Given the description of an element on the screen output the (x, y) to click on. 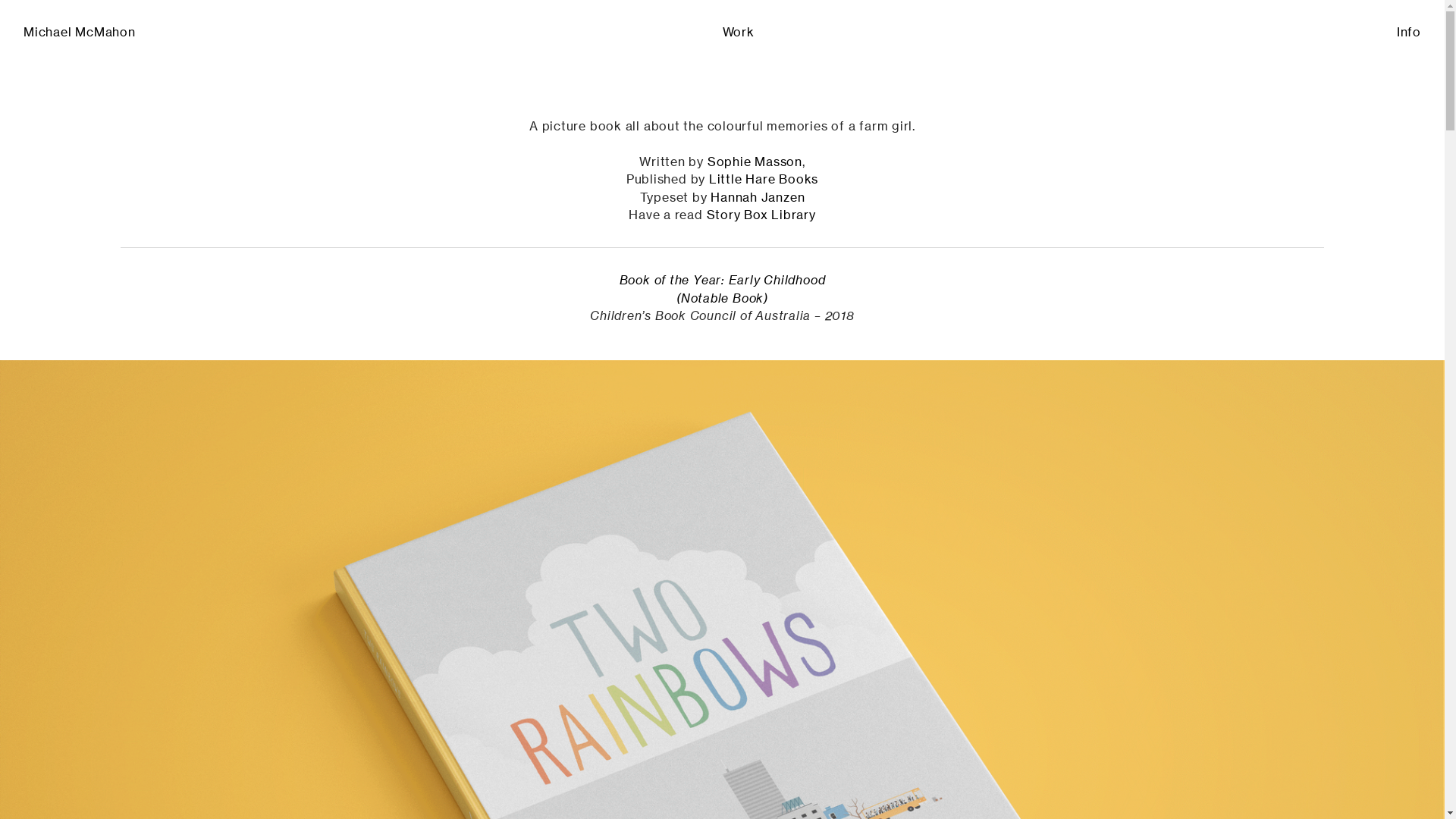
Sophie Masson Element type: text (754, 162)
Story Box Library Element type: text (760, 215)
Book of the Year: Early Childhood
(Notable Book) Element type: text (722, 289)
Info Element type: text (1408, 32)
Work Element type: text (737, 32)
Little Hare Books Element type: text (763, 180)
Hannah Janzen Element type: text (757, 198)
Michael McMahon Element type: text (79, 32)
